Given the description of an element on the screen output the (x, y) to click on. 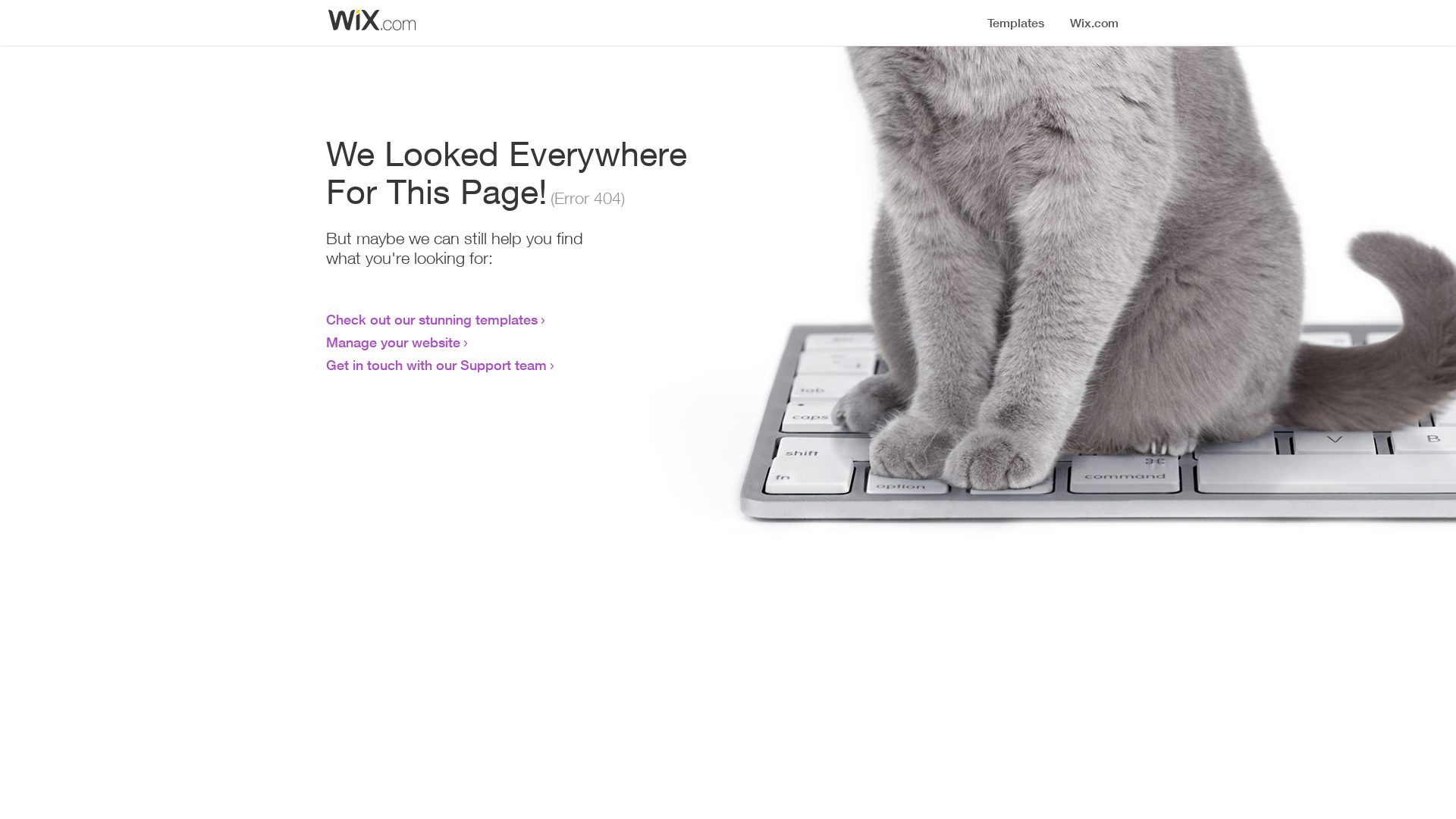
Check out our stunning templates Element type: text (431, 318)
Manage your website Element type: text (393, 341)
Get in touch with our Support team Element type: text (436, 364)
